Given the description of an element on the screen output the (x, y) to click on. 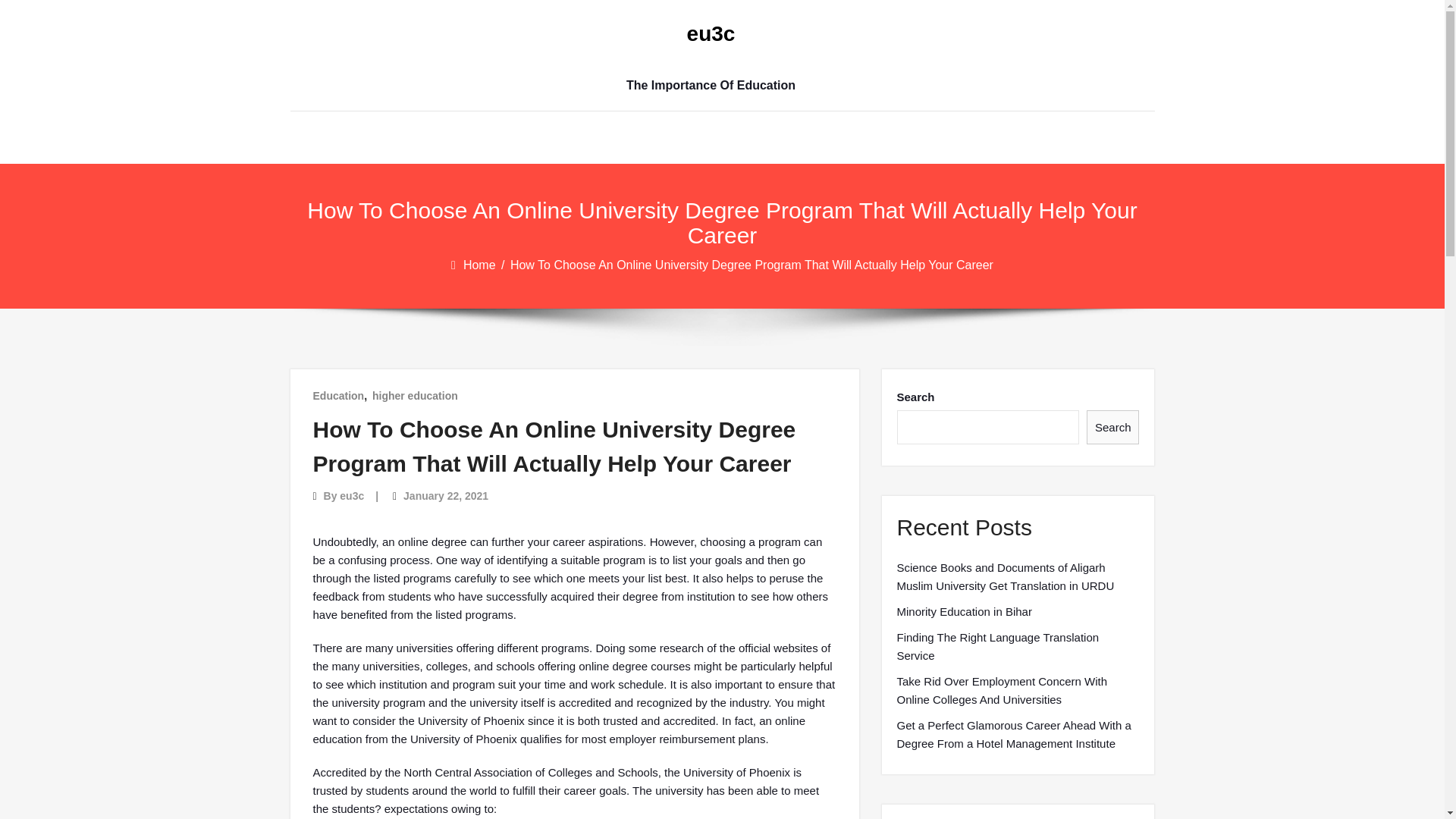
January 22, 2021 (445, 495)
eu3c (351, 495)
Education (338, 395)
Finding The Right Language Translation Service (1017, 646)
Home (480, 264)
Minority Education in Bihar (963, 611)
Search (1113, 427)
